Given the description of an element on the screen output the (x, y) to click on. 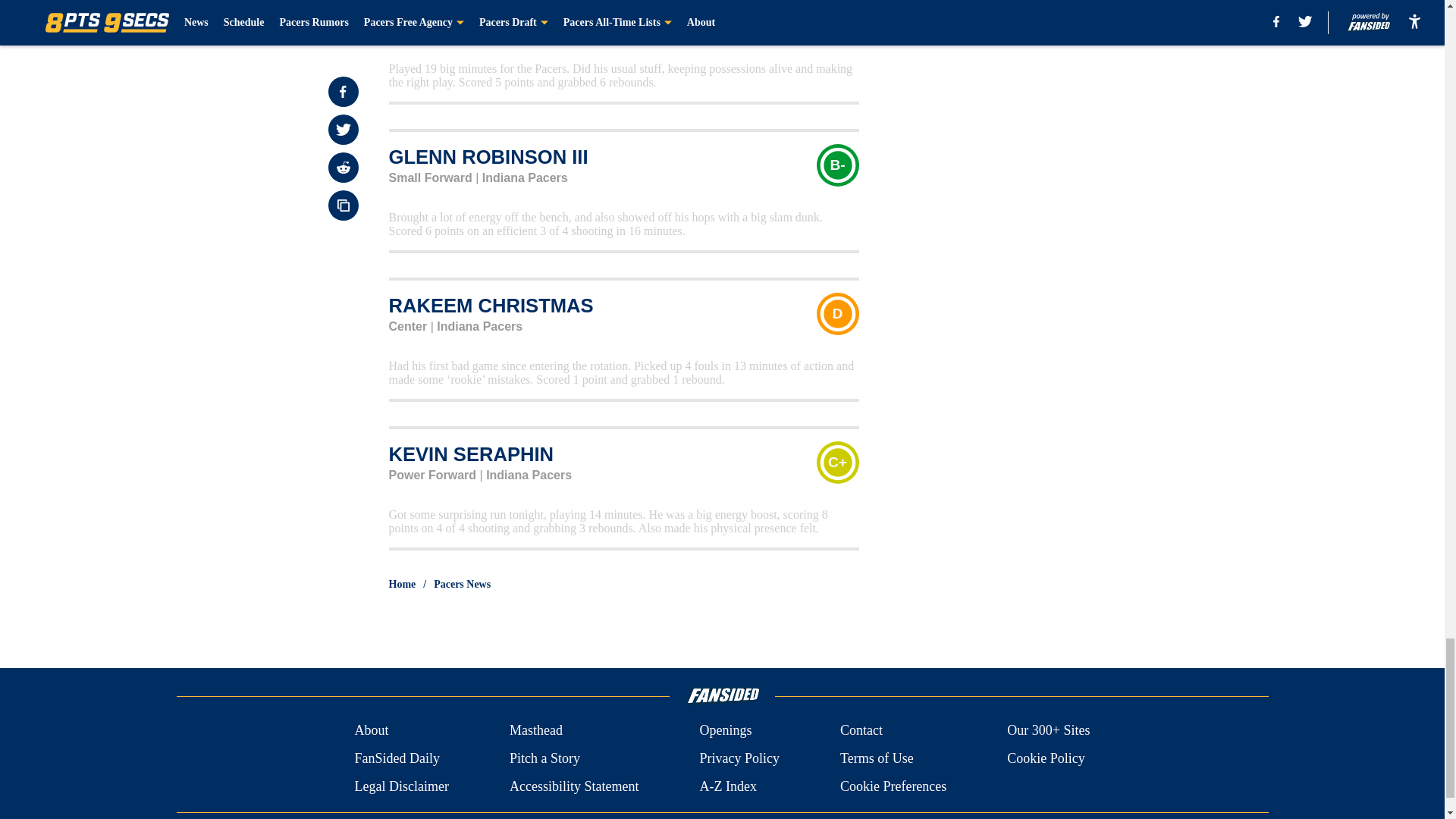
Openings (724, 730)
Pitch a Story (544, 758)
Privacy Policy (738, 758)
Pacers News (461, 584)
Terms of Use (877, 758)
Contact (861, 730)
About (370, 730)
Home (401, 584)
Masthead (535, 730)
FanSided Daily (396, 758)
